Given the description of an element on the screen output the (x, y) to click on. 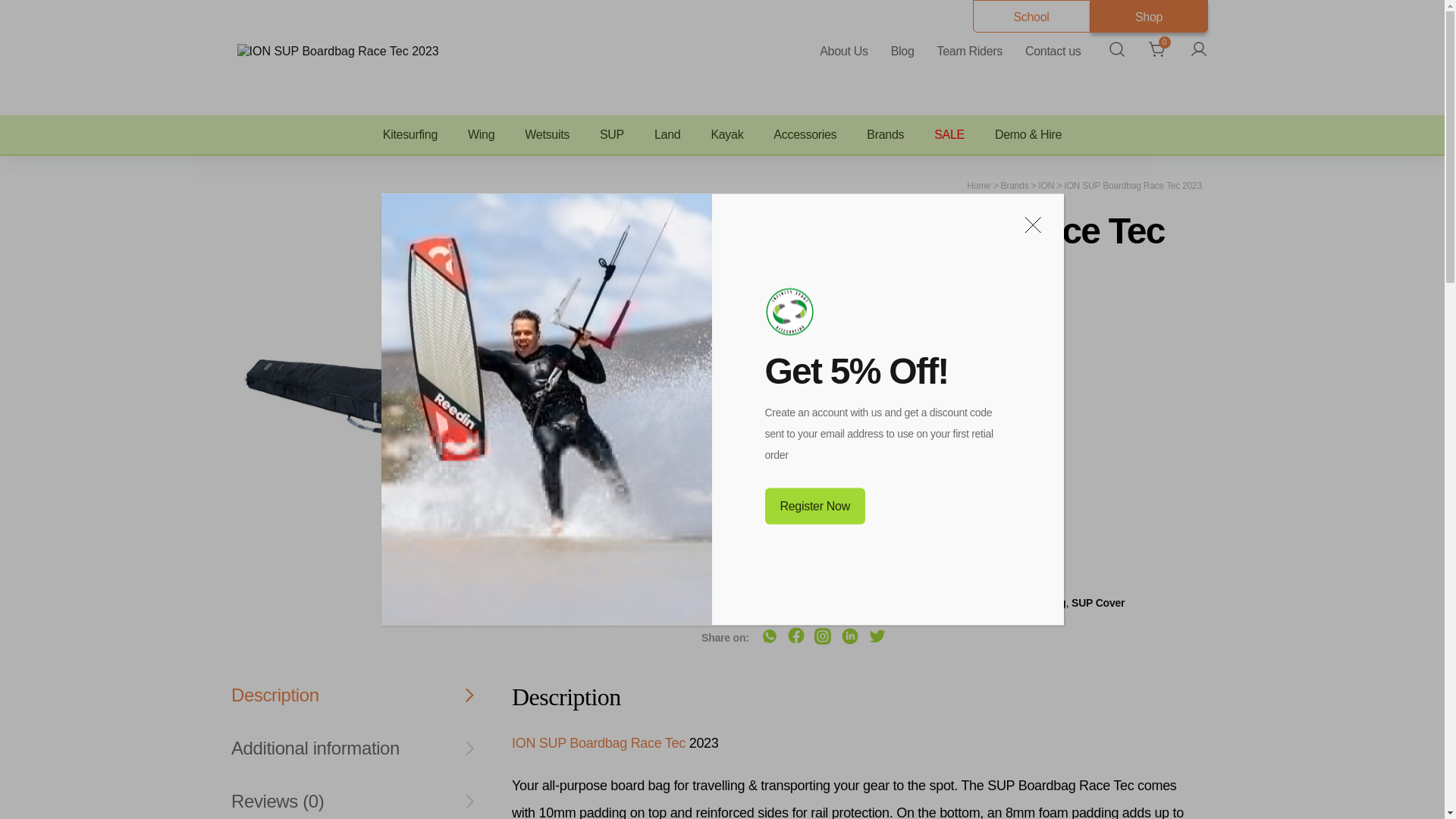
Wing (480, 134)
Shop (1149, 16)
Wetsuits (547, 134)
Contact us (1052, 50)
Blog (902, 50)
ION SUP Boardbag Race Tec 2023 (336, 50)
Share - Twitter (876, 636)
0 (1157, 49)
Share - Facebook (796, 635)
Share - Whatsapp (769, 636)
